Given the description of an element on the screen output the (x, y) to click on. 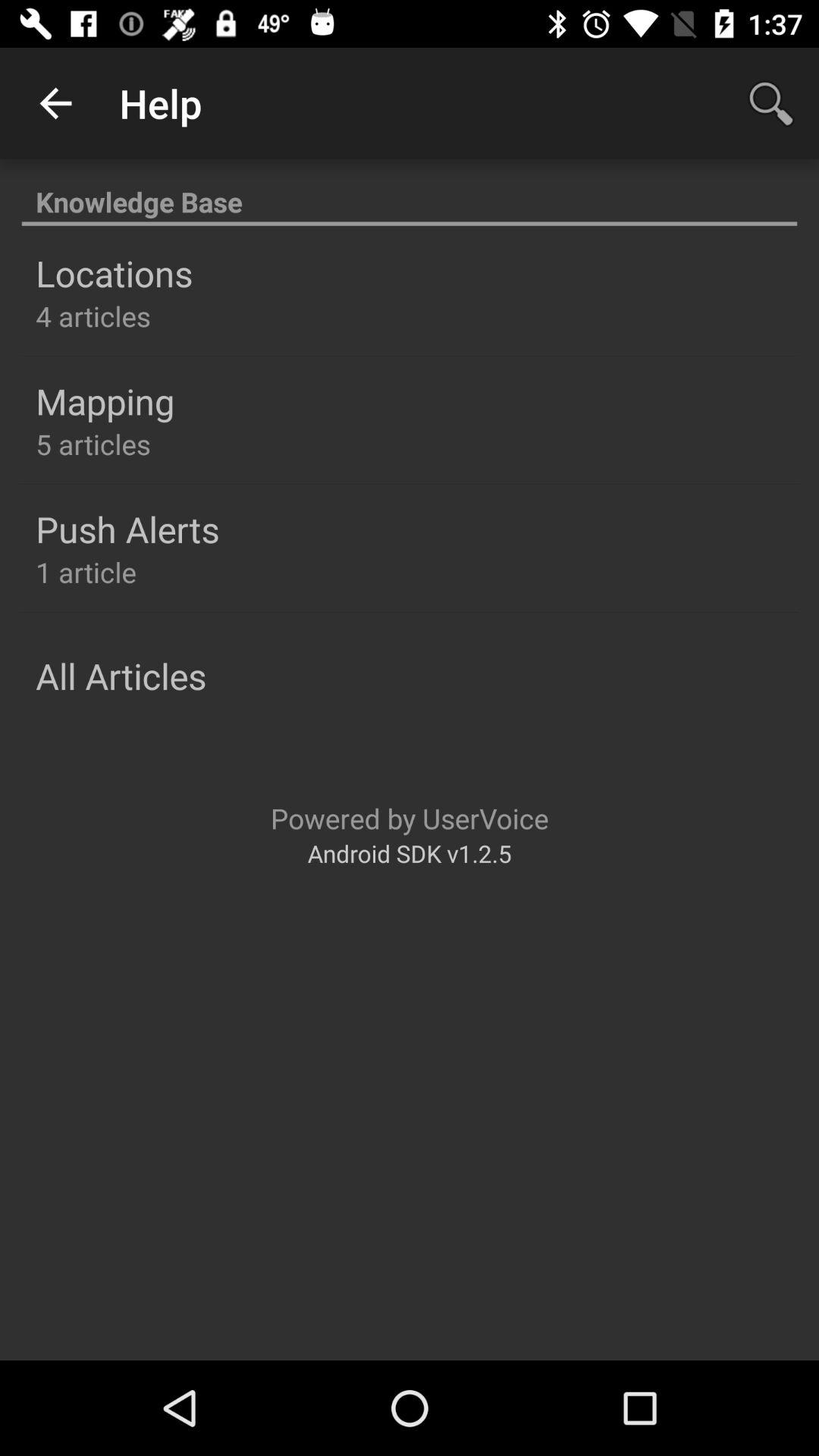
scroll to android sdk v1 (409, 853)
